Given the description of an element on the screen output the (x, y) to click on. 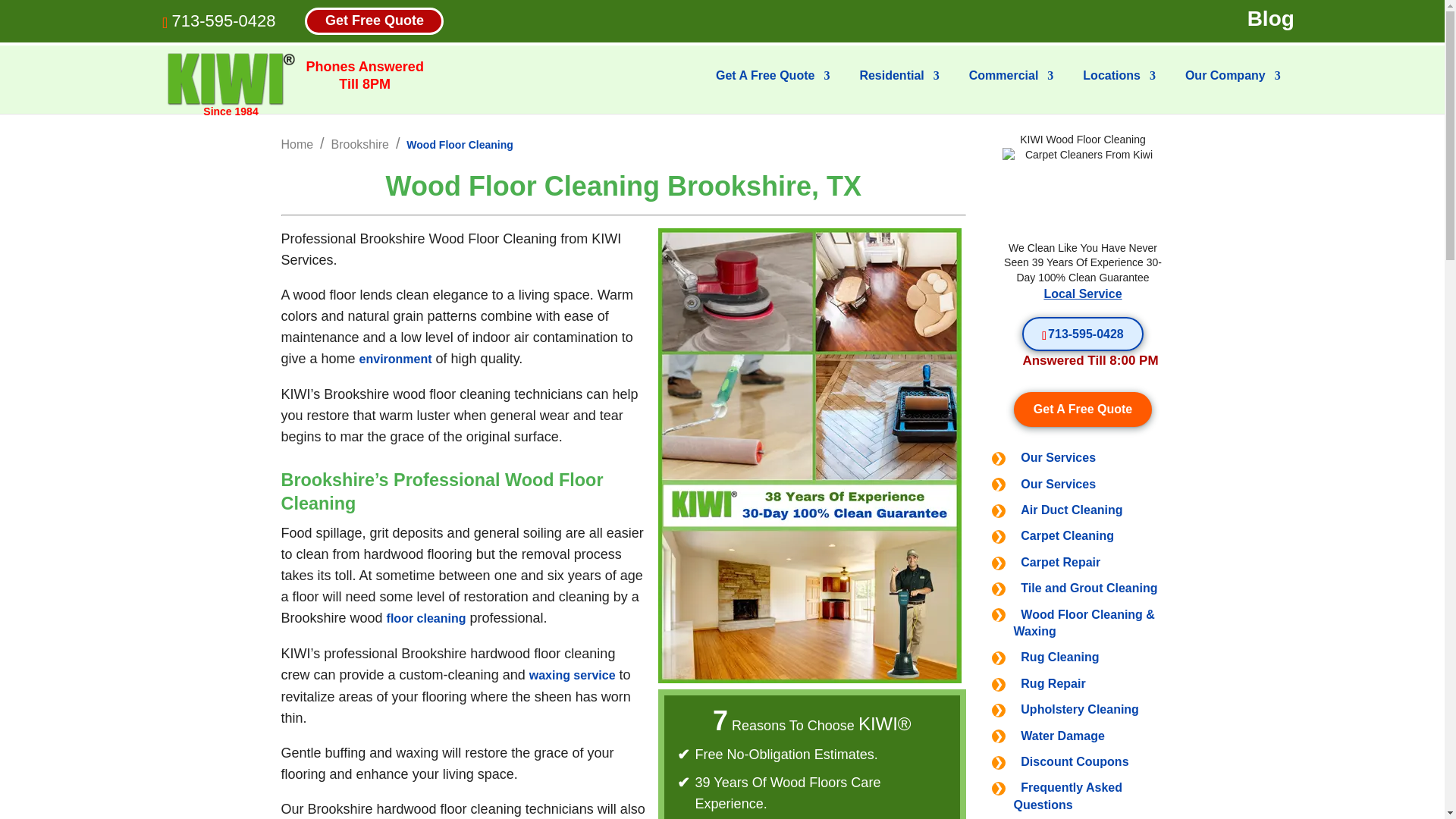
713-595-0428 (223, 20)
Get Free Quote On This Week's Special (1082, 408)
KIWI Cleaning Services (230, 79)
Get A Free Quote (772, 88)
Residential (899, 88)
Since 1984 (230, 79)
Carpet Cleaners From Kiwi (1083, 194)
Get Free Quote (373, 20)
Blog (1270, 18)
Call For This Week's Special (1082, 333)
